Given the description of an element on the screen output the (x, y) to click on. 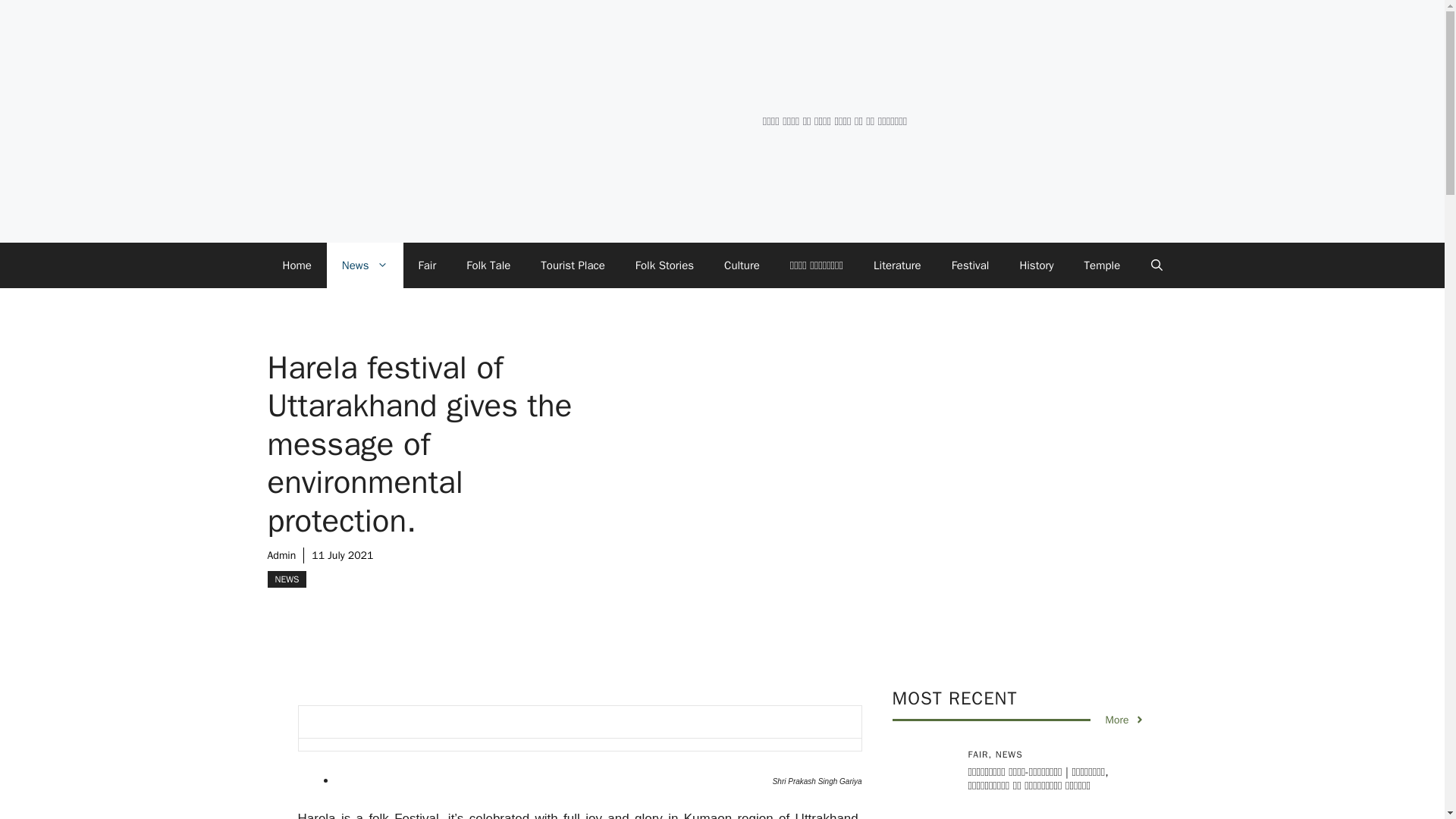
Tourist Place (572, 265)
Temple (1101, 265)
News (364, 265)
Festival (970, 265)
Folk Stories (664, 265)
NEWS (285, 579)
Literature (897, 265)
Culture (741, 265)
History (1036, 265)
Admin (280, 554)
Folk Tale (488, 265)
Home (296, 265)
Fair (427, 265)
More (1124, 719)
